Given the description of an element on the screen output the (x, y) to click on. 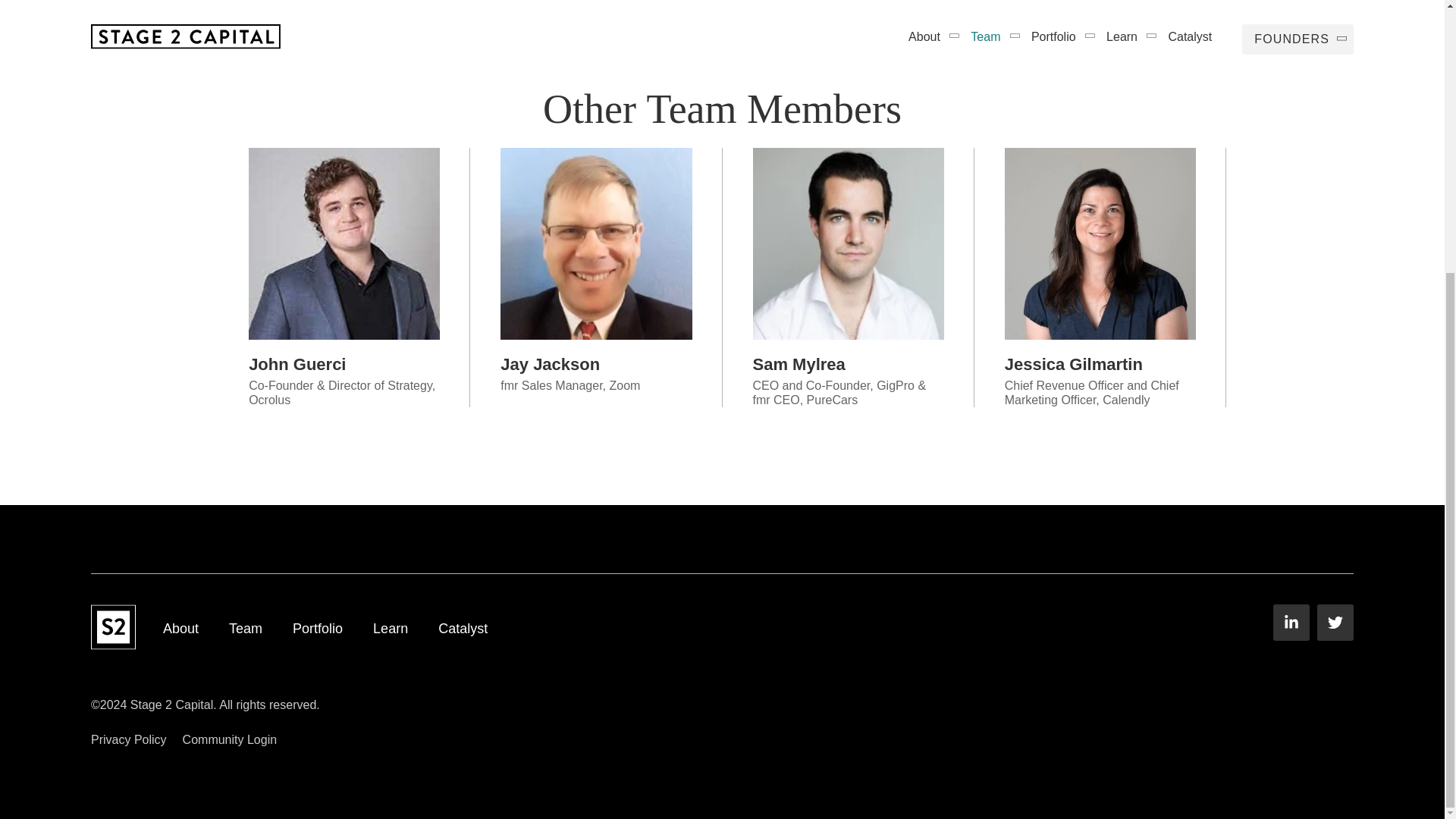
Catalyst (462, 628)
Team (245, 628)
Learn (389, 628)
About (180, 628)
Portfolio (317, 628)
Community Login (230, 739)
Privacy Policy (128, 739)
